Given the description of an element on the screen output the (x, y) to click on. 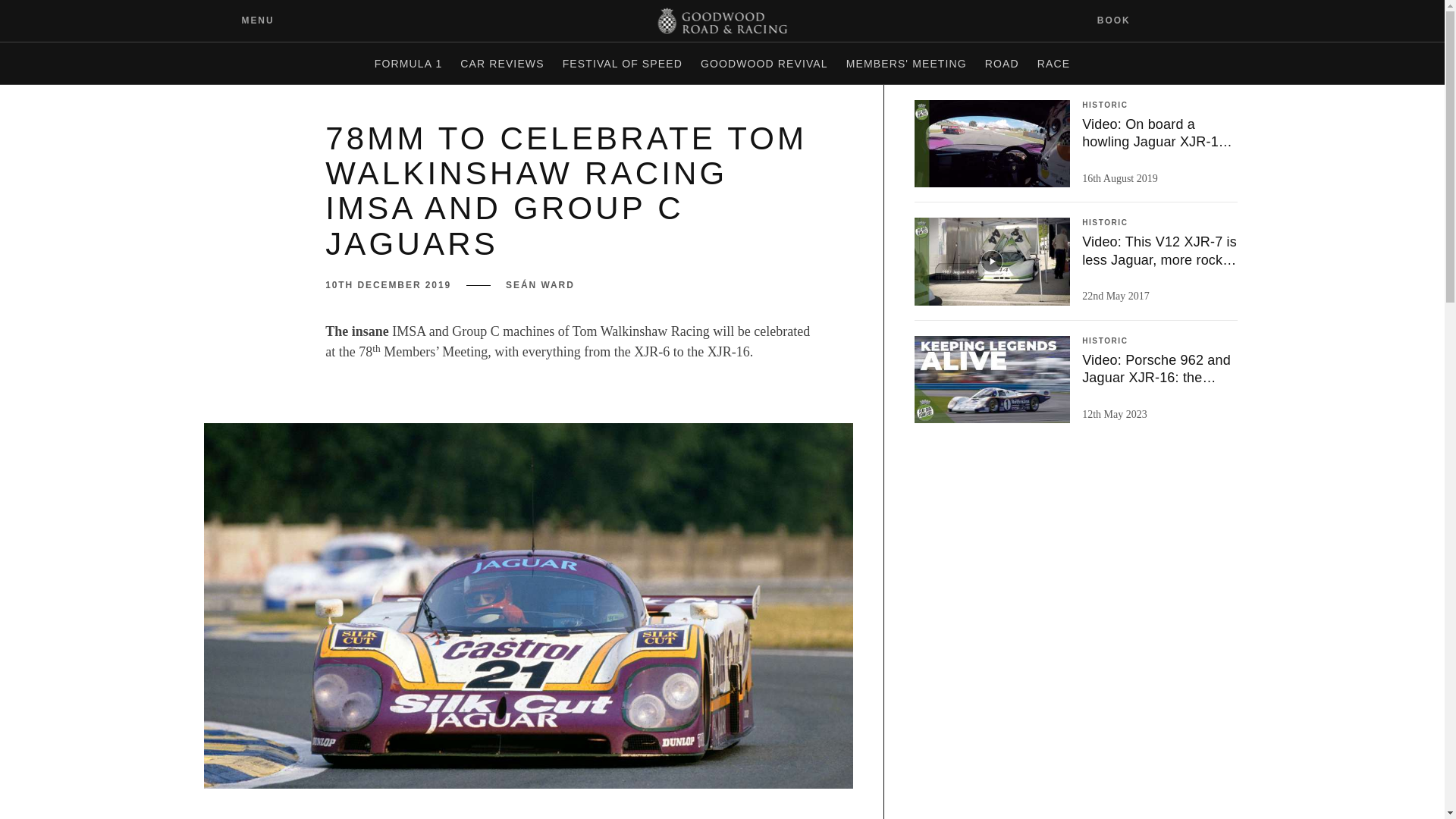
FESTIVAL OF SPEED (622, 63)
FORMULA 1 (408, 63)
RACE (1053, 63)
CAR REVIEWS (502, 63)
ROAD (1001, 63)
MEMBERS' MEETING (906, 63)
GOODWOOD REVIVAL (764, 63)
MENU (246, 20)
BOOK (1122, 20)
